Given the description of an element on the screen output the (x, y) to click on. 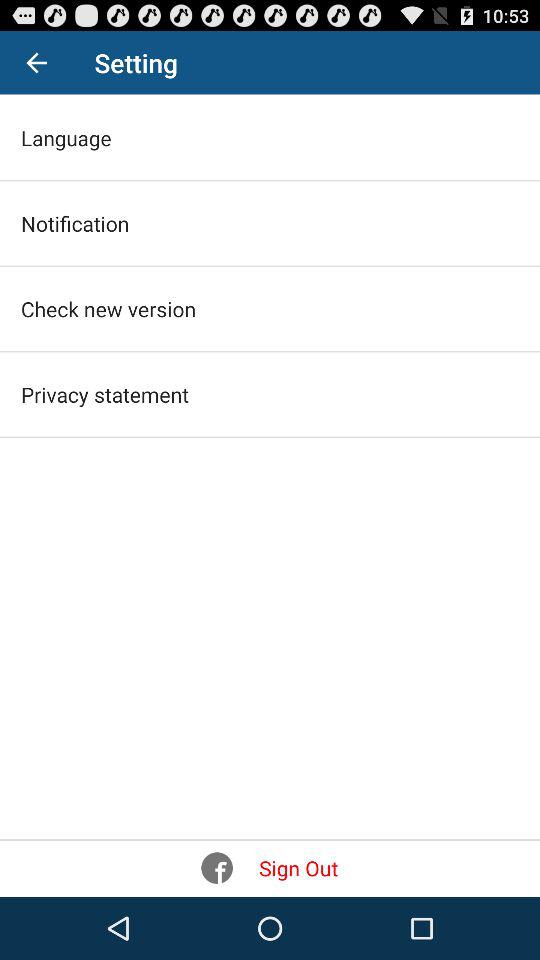
choose item above privacy statement icon (108, 308)
